Given the description of an element on the screen output the (x, y) to click on. 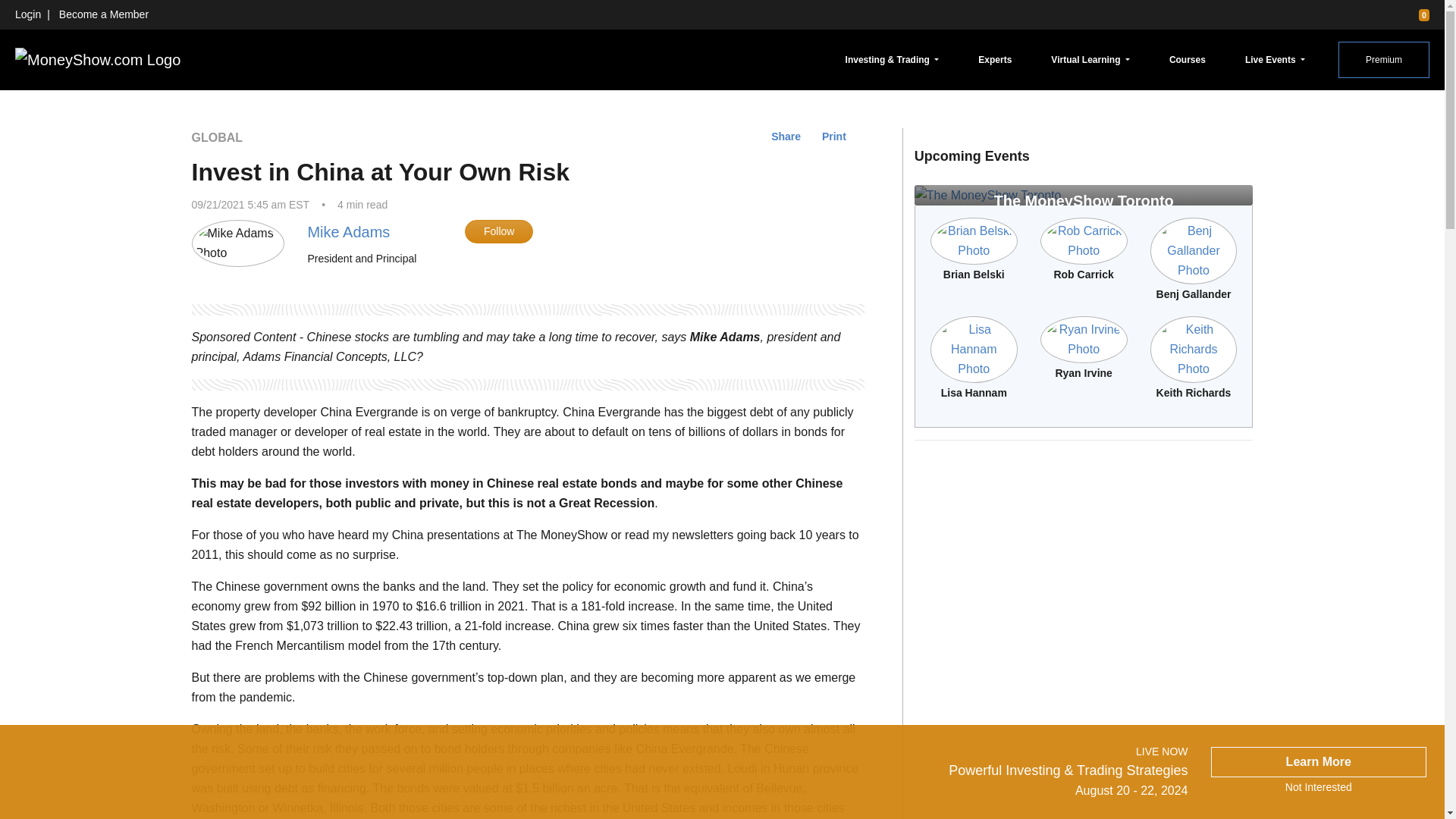
Become a Member (103, 14)
Follow (498, 231)
0 (1416, 14)
Login (27, 14)
You must login to follow our experts. (498, 231)
Experts (994, 59)
Virtual Learning (1090, 59)
Premium (1383, 59)
Advertisement (1083, 558)
Print (833, 136)
